Given the description of an element on the screen output the (x, y) to click on. 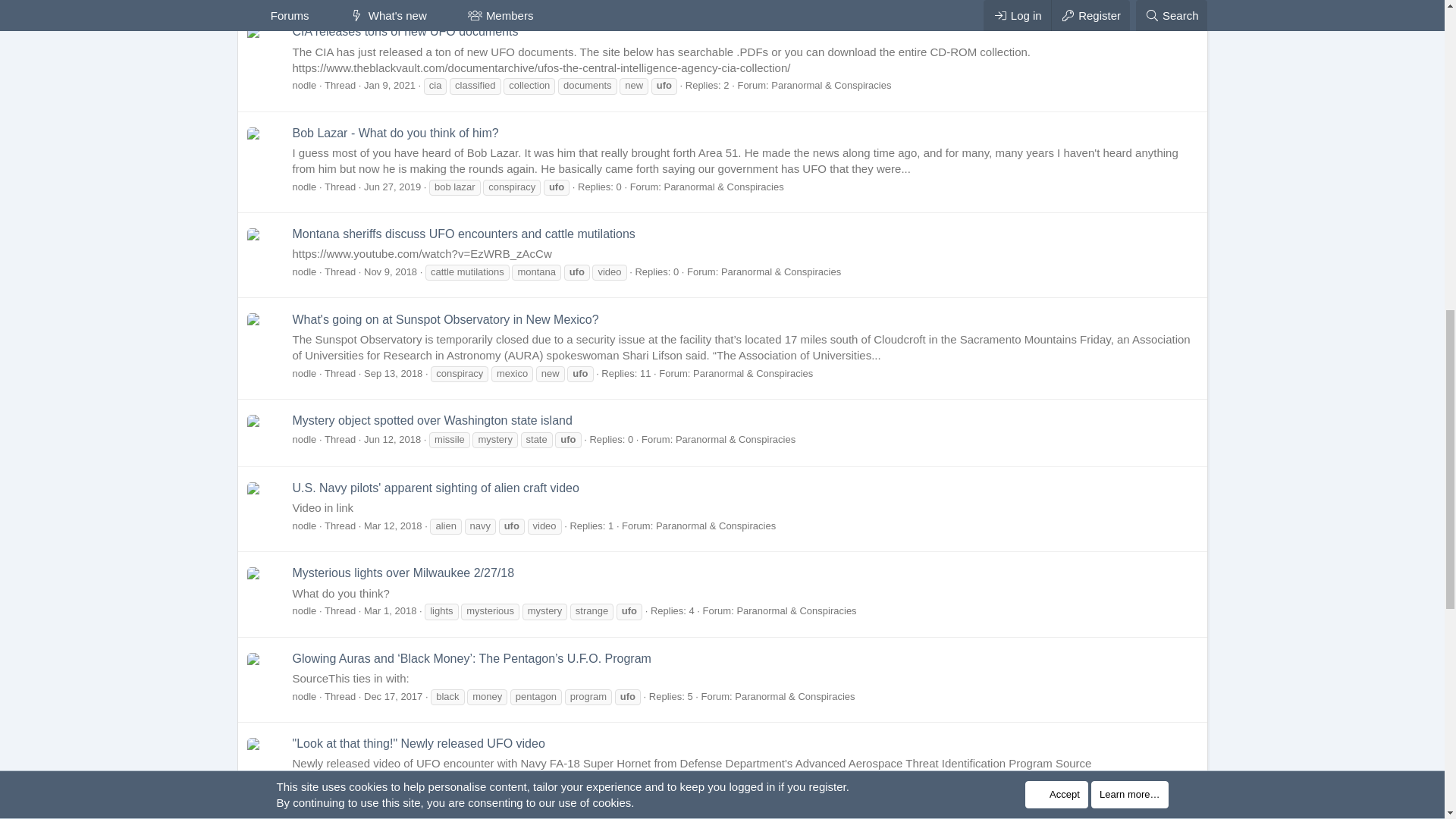
Mar 1, 2018 at 4:35 AM (390, 610)
Mar 12, 2018 at 5:34 PM (393, 525)
Jun 27, 2019 at 5:24 PM (392, 186)
nodle (304, 186)
Dec 16, 2017 at 6:58 PM (393, 781)
Dec 17, 2017 at 6:19 PM (393, 696)
Jun 12, 2018 at 6:46 PM (392, 439)
Jan 9, 2021 at 4:33 PM (389, 84)
nodle (304, 271)
Bob Lazar - What do you think of him? (395, 132)
CIA releases tons of new UFO documents (405, 31)
nodle (304, 84)
Sep 13, 2018 at 4:25 AM (393, 373)
Nov 9, 2018 at 8:57 PM (390, 271)
